Given the description of an element on the screen output the (x, y) to click on. 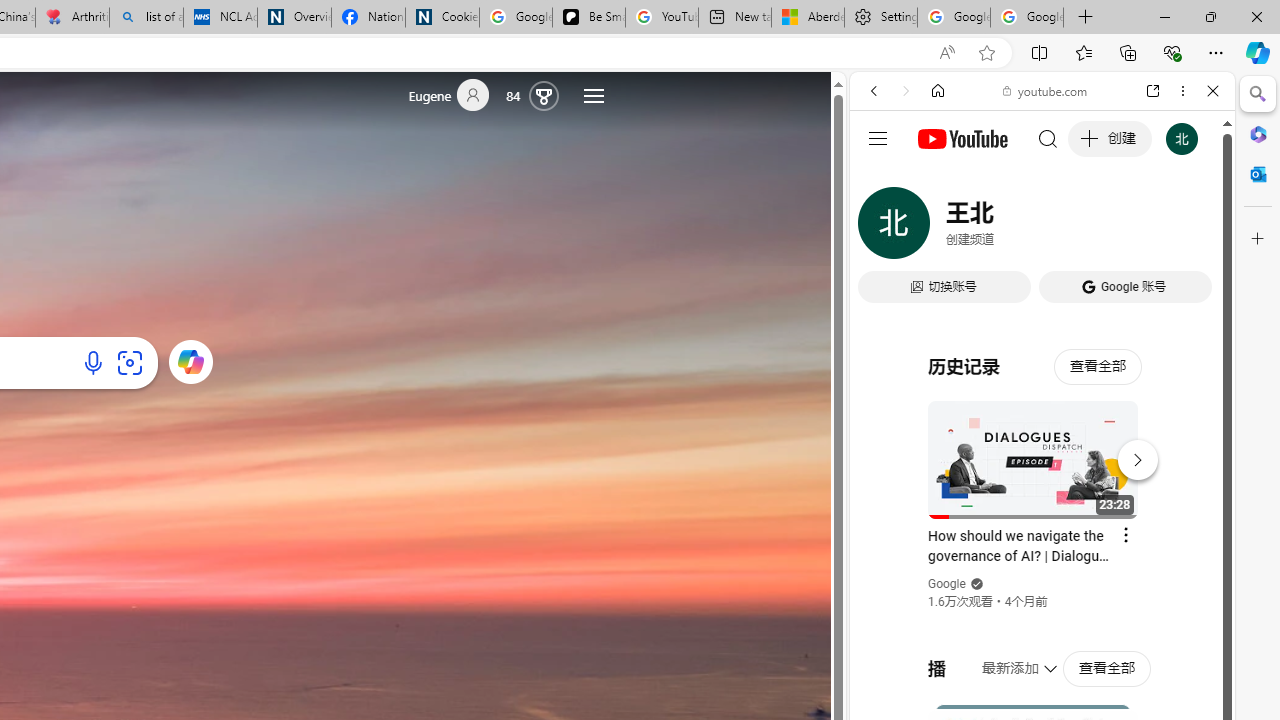
Search using an image (129, 362)
AutomationID: rh_meter (543, 94)
